Given the description of an element on the screen output the (x, y) to click on. 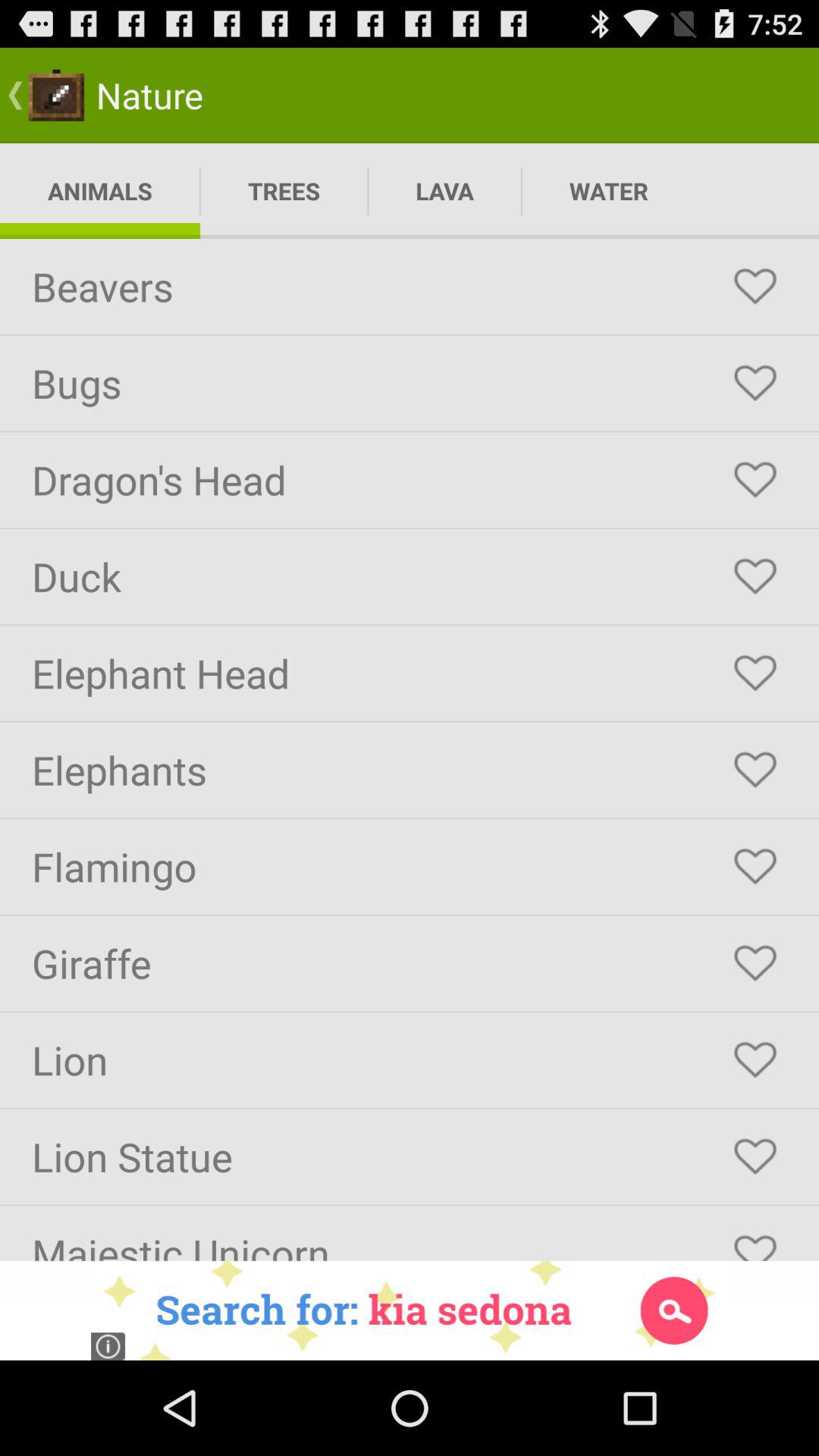
save your favorite animals (755, 769)
